Given the description of an element on the screen output the (x, y) to click on. 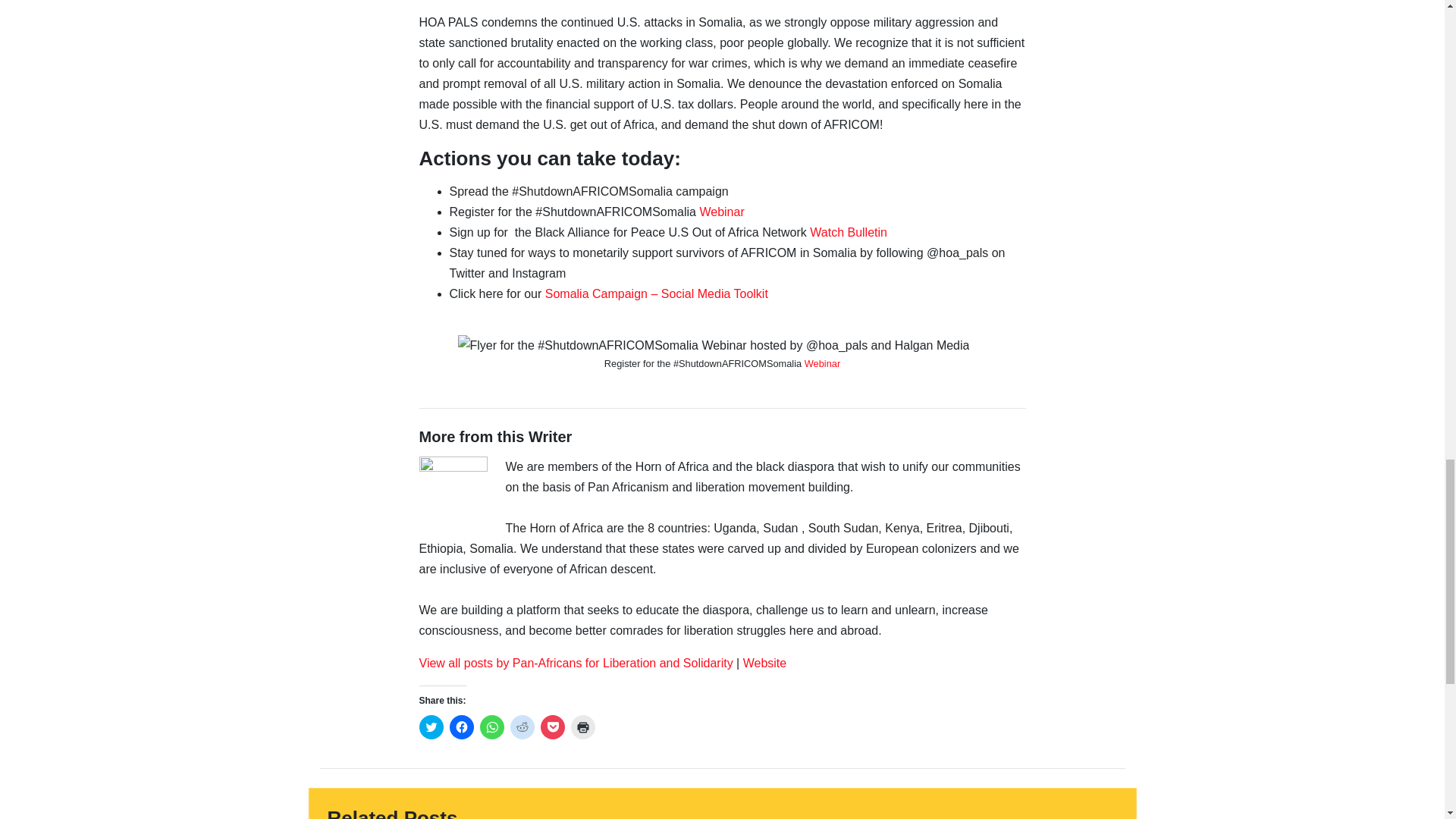
Webinar (721, 211)
Website (764, 662)
View all posts by Pan-Africans for Liberation and Solidarity (575, 662)
Watch Bulletin (847, 232)
Webinar (822, 363)
